Given the description of an element on the screen output the (x, y) to click on. 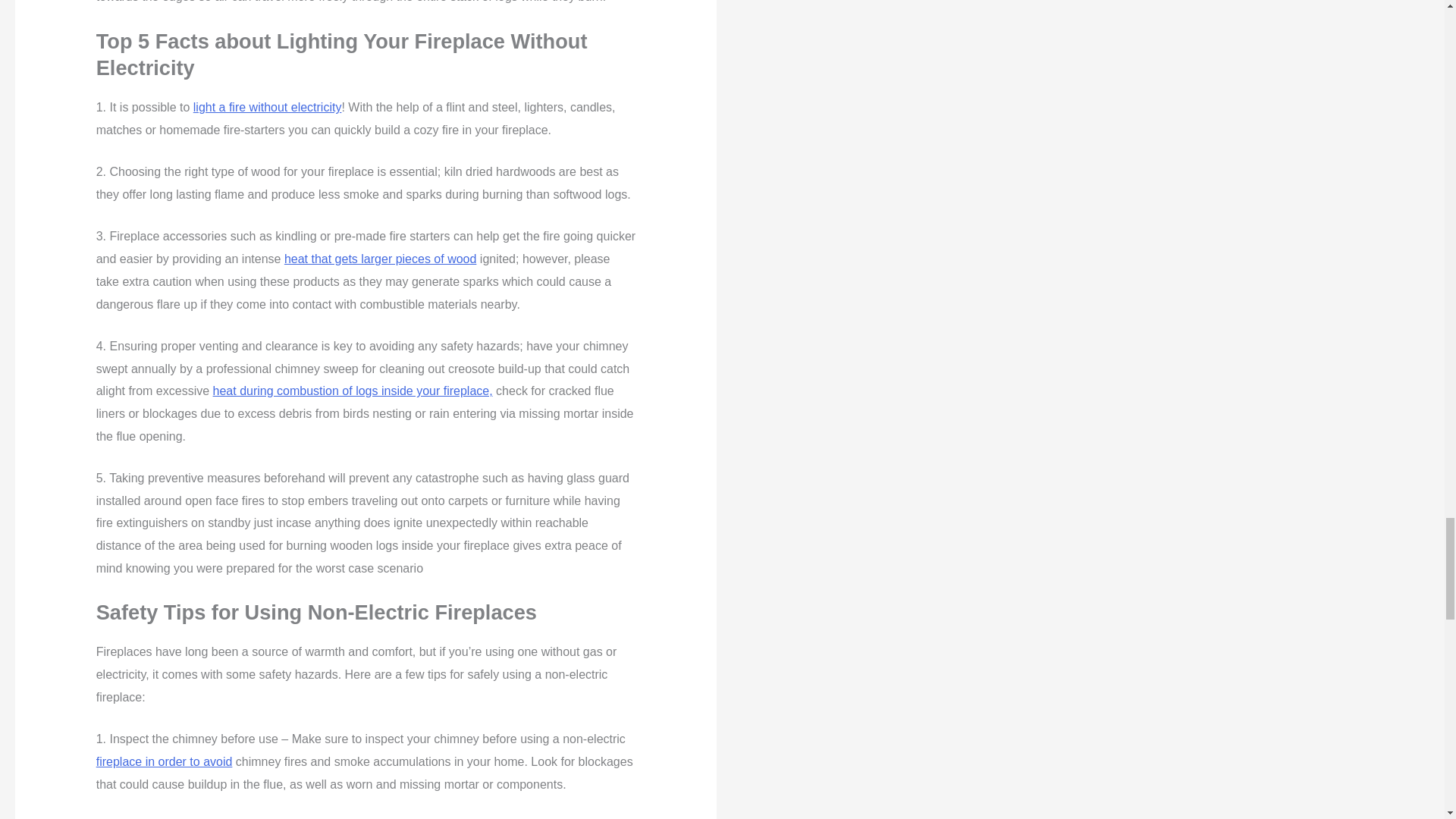
light a fire without electricity (267, 106)
heat that gets larger pieces of wood (380, 258)
fireplace in order to avoid (164, 761)
heat during combustion of logs inside your fireplace, (352, 390)
